Given the description of an element on the screen output the (x, y) to click on. 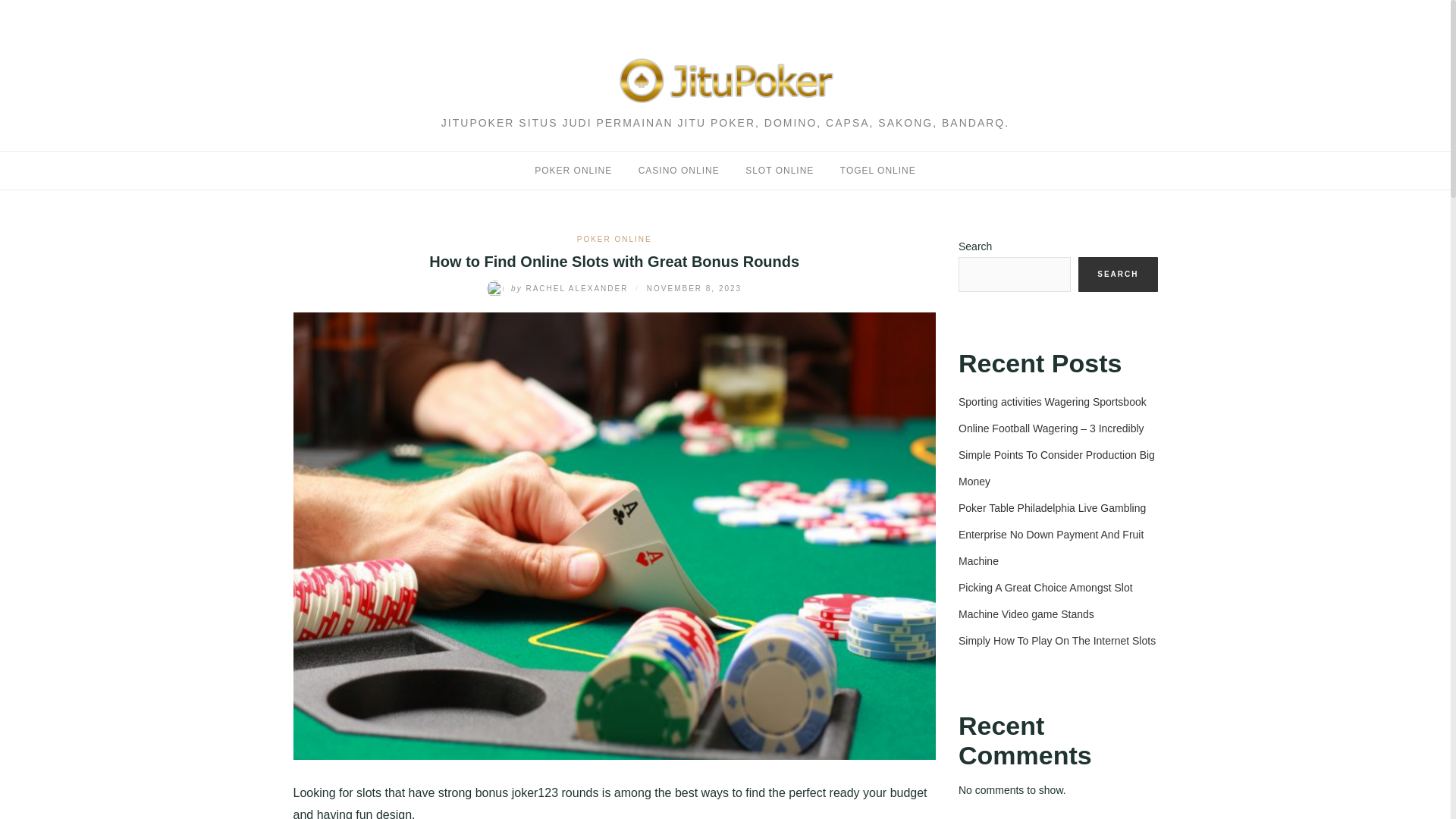
POKER ONLINE (614, 239)
Sporting activities Wagering Sportsbook (1052, 401)
by RACHEL ALEXANDER (558, 288)
Simply How To Play On The Internet Slots (1057, 640)
TOGEL ONLINE (877, 170)
SEARCH (1117, 274)
SLOT ONLINE (779, 170)
CASINO ONLINE (679, 170)
